Given the description of an element on the screen output the (x, y) to click on. 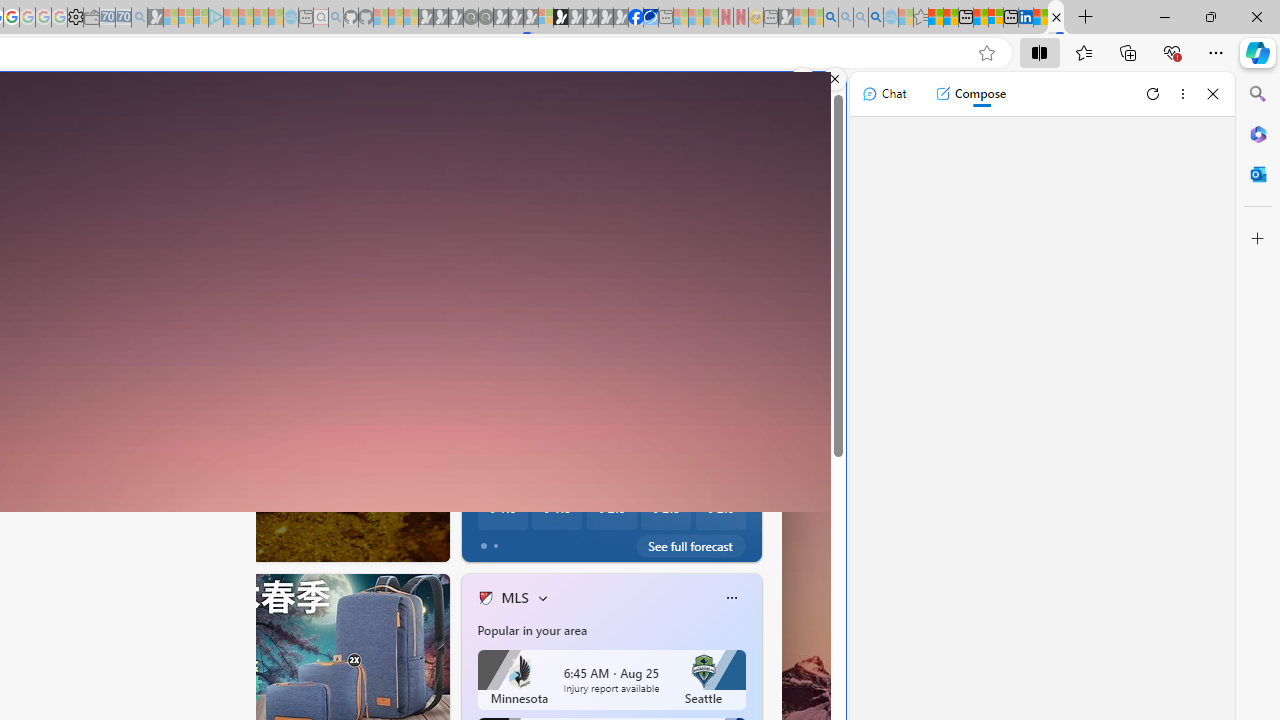
How to Turn Off Copilot in Windows 11 (758, 506)
The Independent (477, 442)
Partly sunny (499, 333)
AutomationID: tab-26 (189, 542)
AutomationID: tab-36 (212, 542)
AutomationID: tab-25 (180, 542)
AutomationID: tab-24 (172, 542)
